Given the description of an element on the screen output the (x, y) to click on. 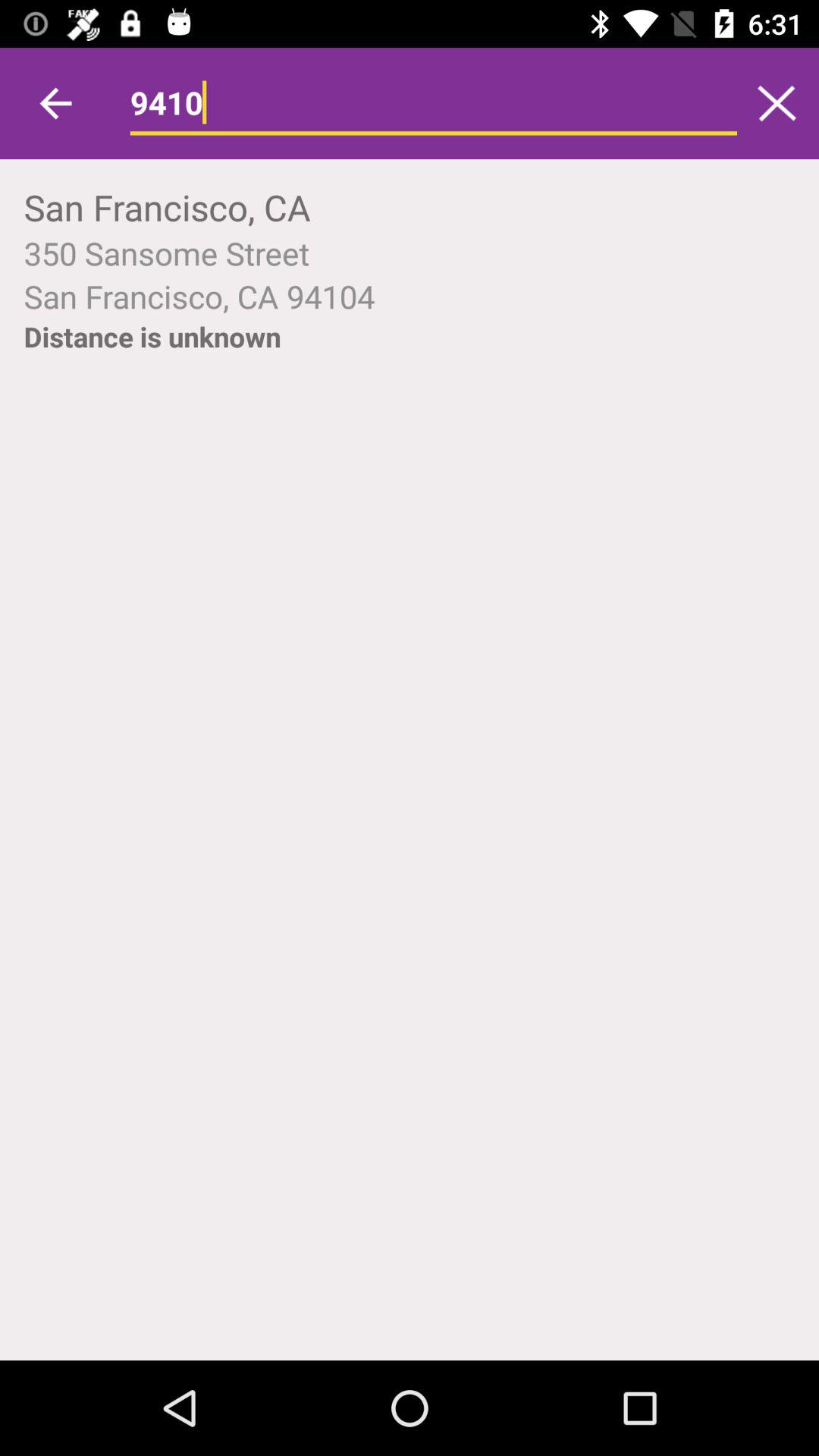
press the icon above the san francisco, ca icon (433, 103)
